Given the description of an element on the screen output the (x, y) to click on. 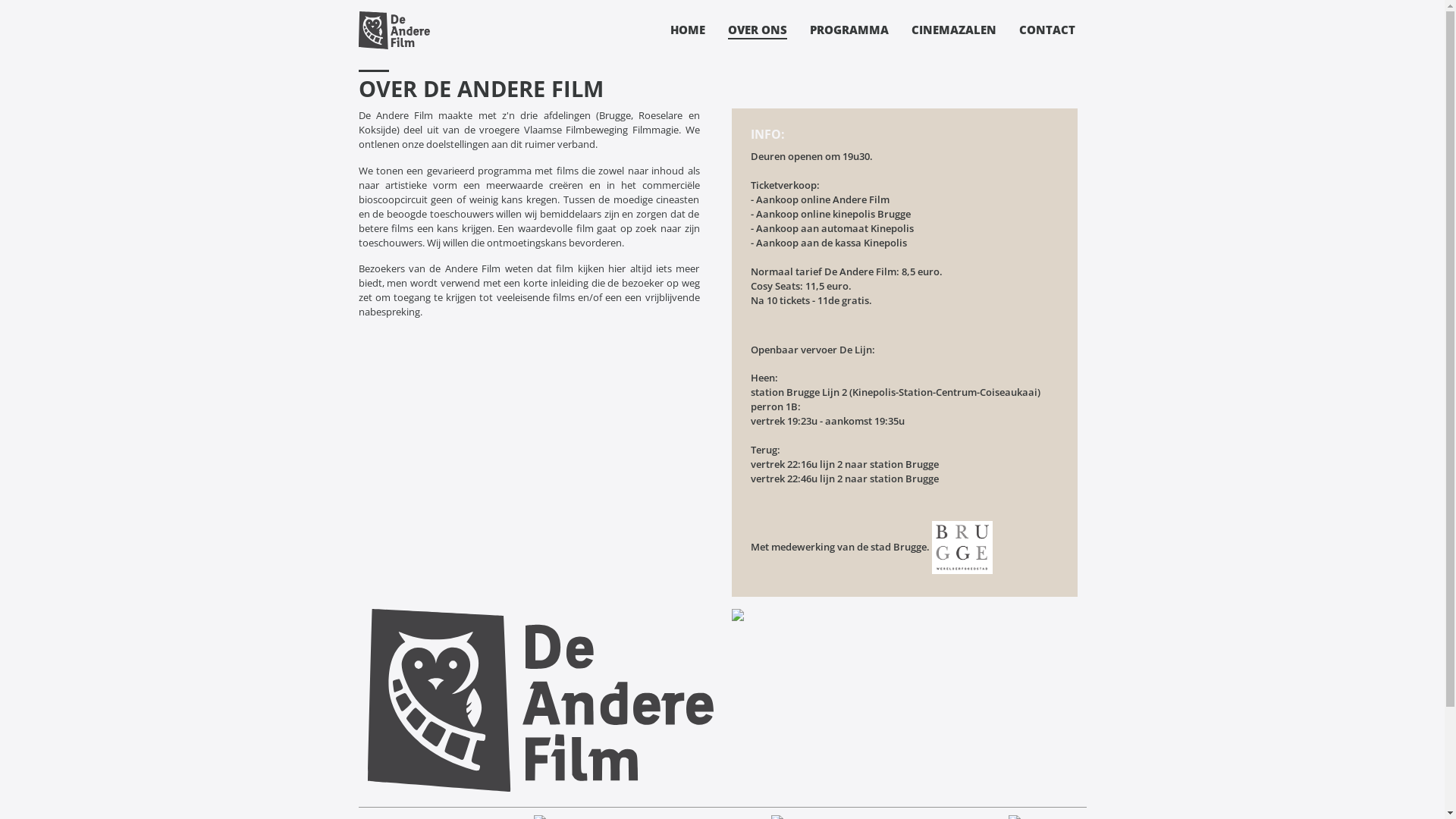
HOME Element type: text (687, 30)
CINEMAZALEN Element type: text (953, 30)
OVER ONS Element type: text (757, 30)
PROGRAMMA Element type: text (848, 30)
CONTACT Element type: text (1047, 30)
